Given the description of an element on the screen output the (x, y) to click on. 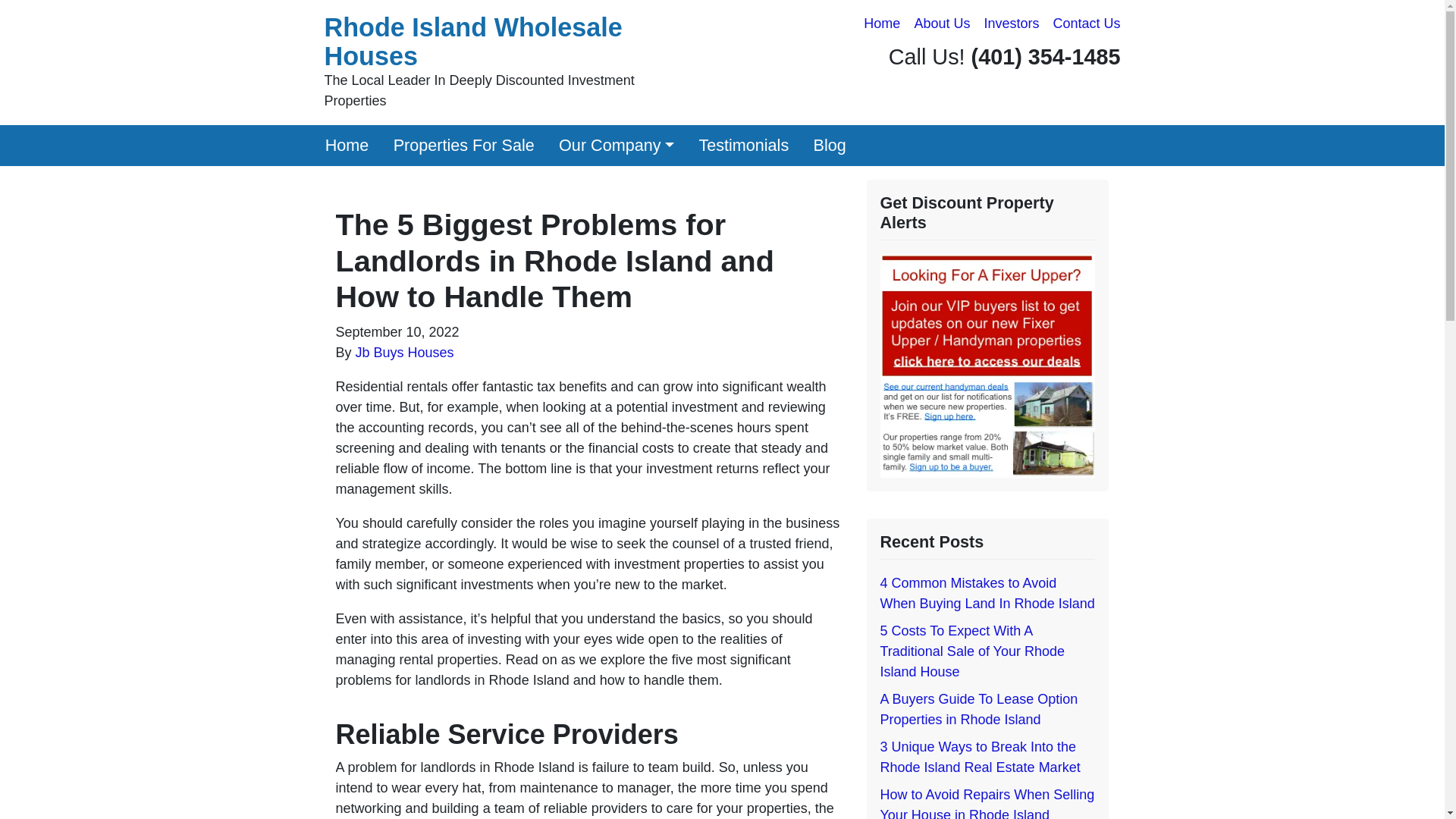
Home (346, 145)
Blog (829, 145)
Our Company (616, 145)
A Buyers Guide To Lease Option Properties in Rhode Island (978, 709)
How to Avoid Repairs When Selling Your House in Rhode Island (986, 803)
Testimonials (742, 145)
Blog (829, 145)
Jb Buys Houses (404, 352)
Properties For Sale (463, 145)
Our Company (616, 145)
About Us (941, 23)
Testimonials (742, 145)
4 Common Mistakes to Avoid When Buying Land In Rhode Island (986, 592)
